Given the description of an element on the screen output the (x, y) to click on. 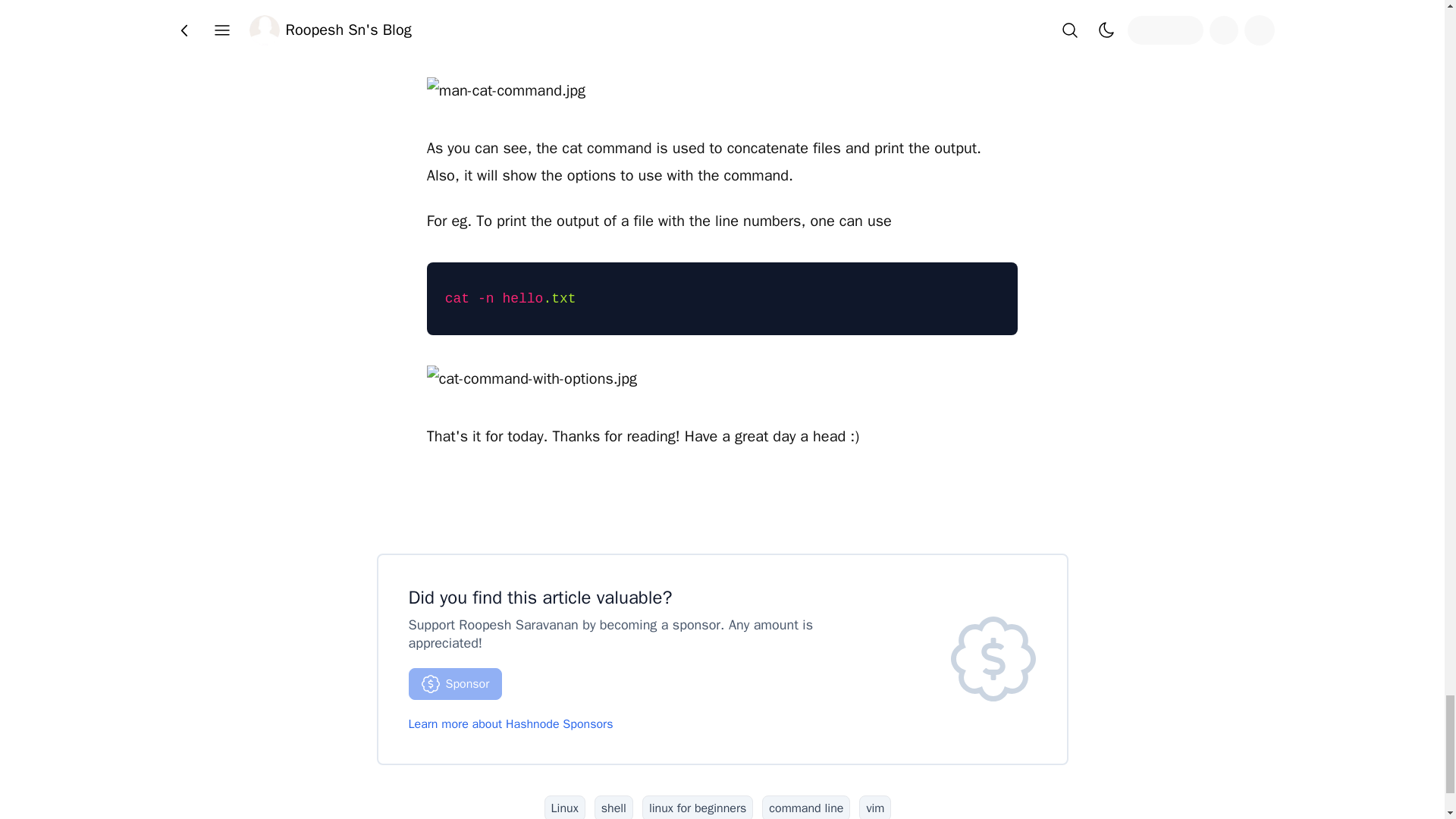
Learn more about Hashnode Sponsors (509, 724)
shell (613, 807)
Sponsor (454, 684)
vim (875, 807)
command line (805, 807)
Linux (564, 807)
linux for beginners (697, 807)
